Given the description of an element on the screen output the (x, y) to click on. 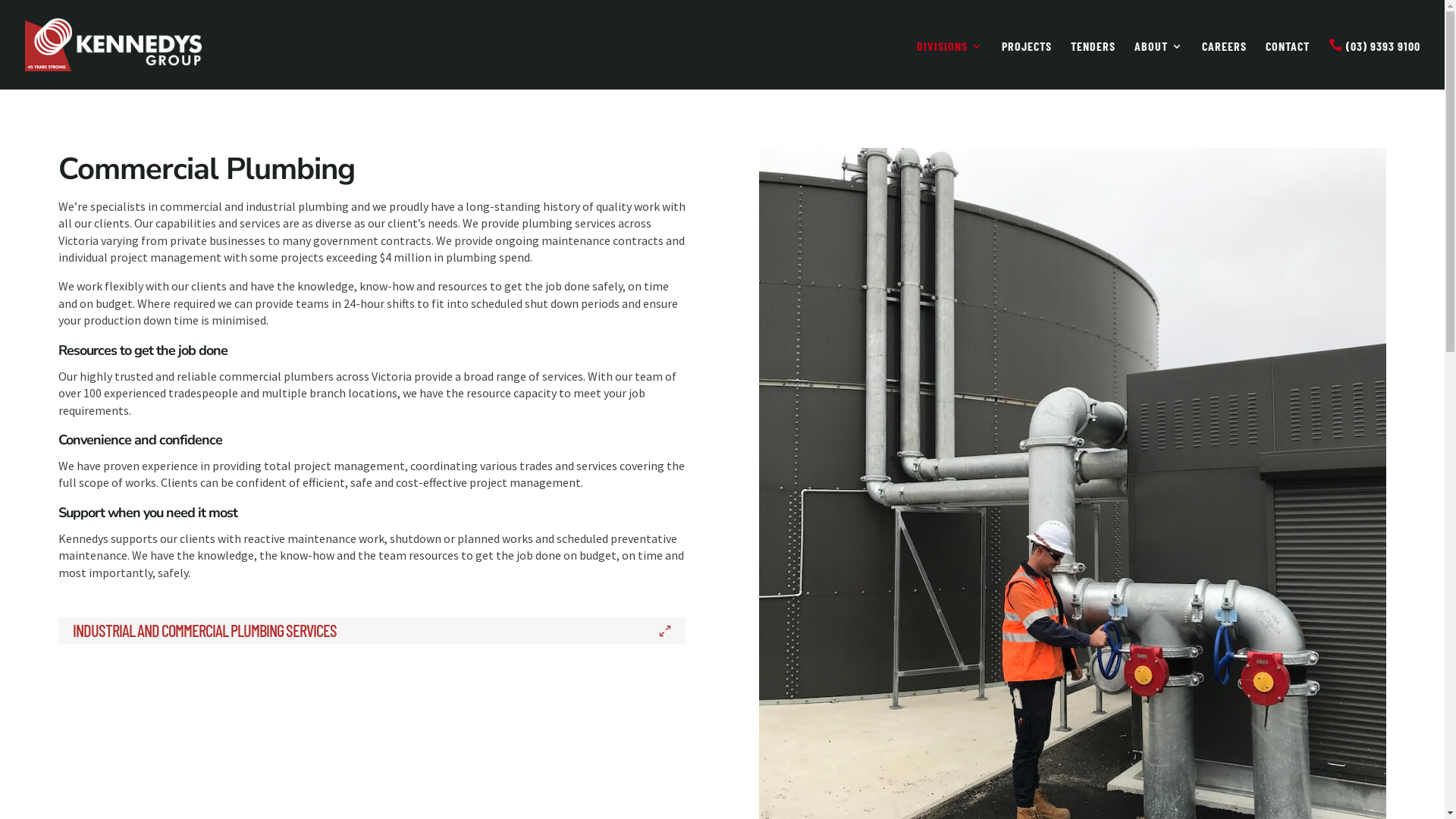
ABOUT Element type: text (1158, 64)
DIVISIONS Element type: text (949, 64)
CAREERS Element type: text (1223, 64)
CONTACT Element type: text (1287, 64)
TENDERS Element type: text (1092, 64)
PROJECTS Element type: text (1026, 64)
